Given the description of an element on the screen output the (x, y) to click on. 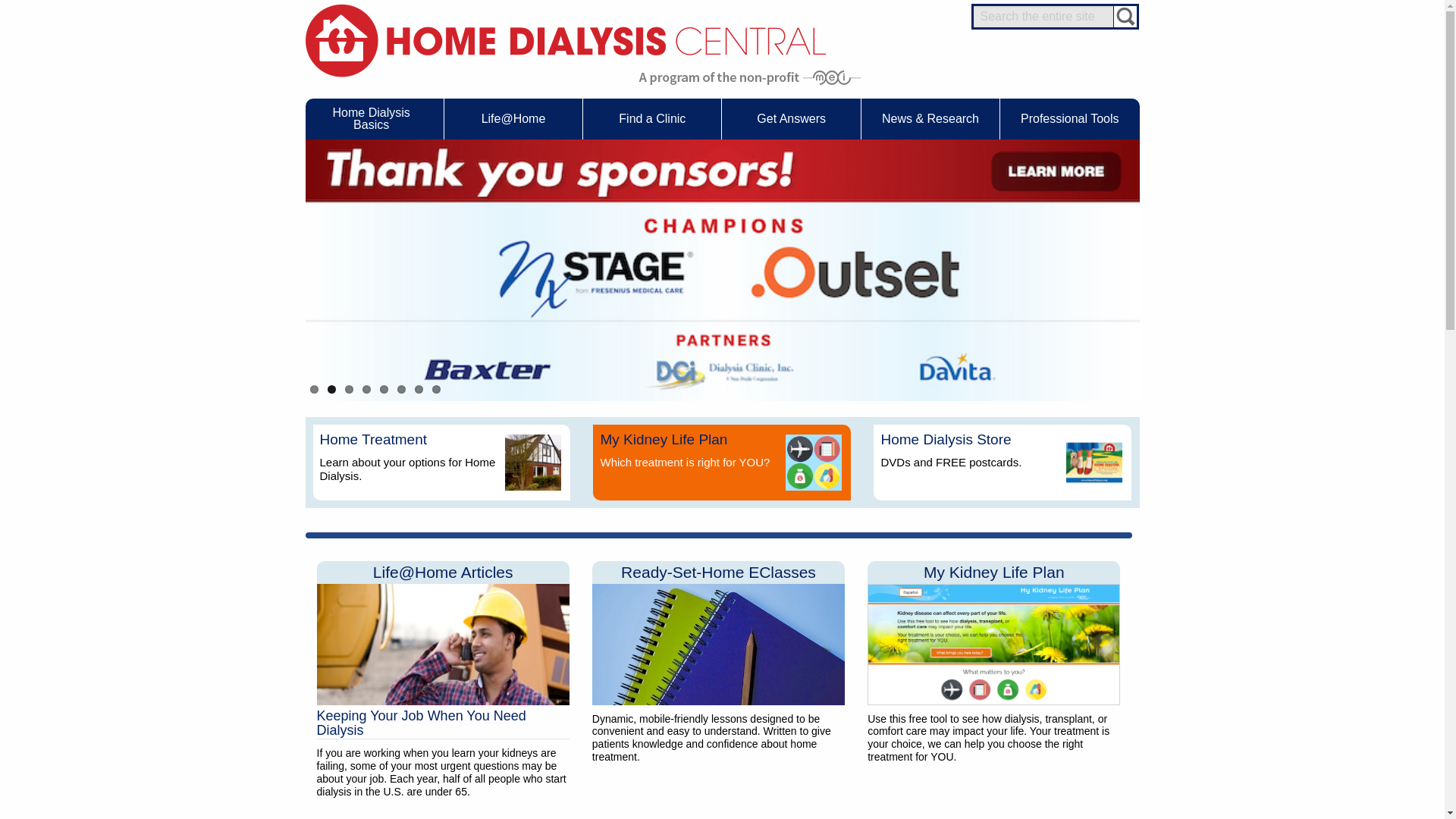
Find a Clinic (652, 118)
Search (1125, 16)
Go to the homepage (564, 39)
Get Answers (791, 118)
Home Dialysis Basics (373, 118)
Search (1125, 16)
